Given the description of an element on the screen output the (x, y) to click on. 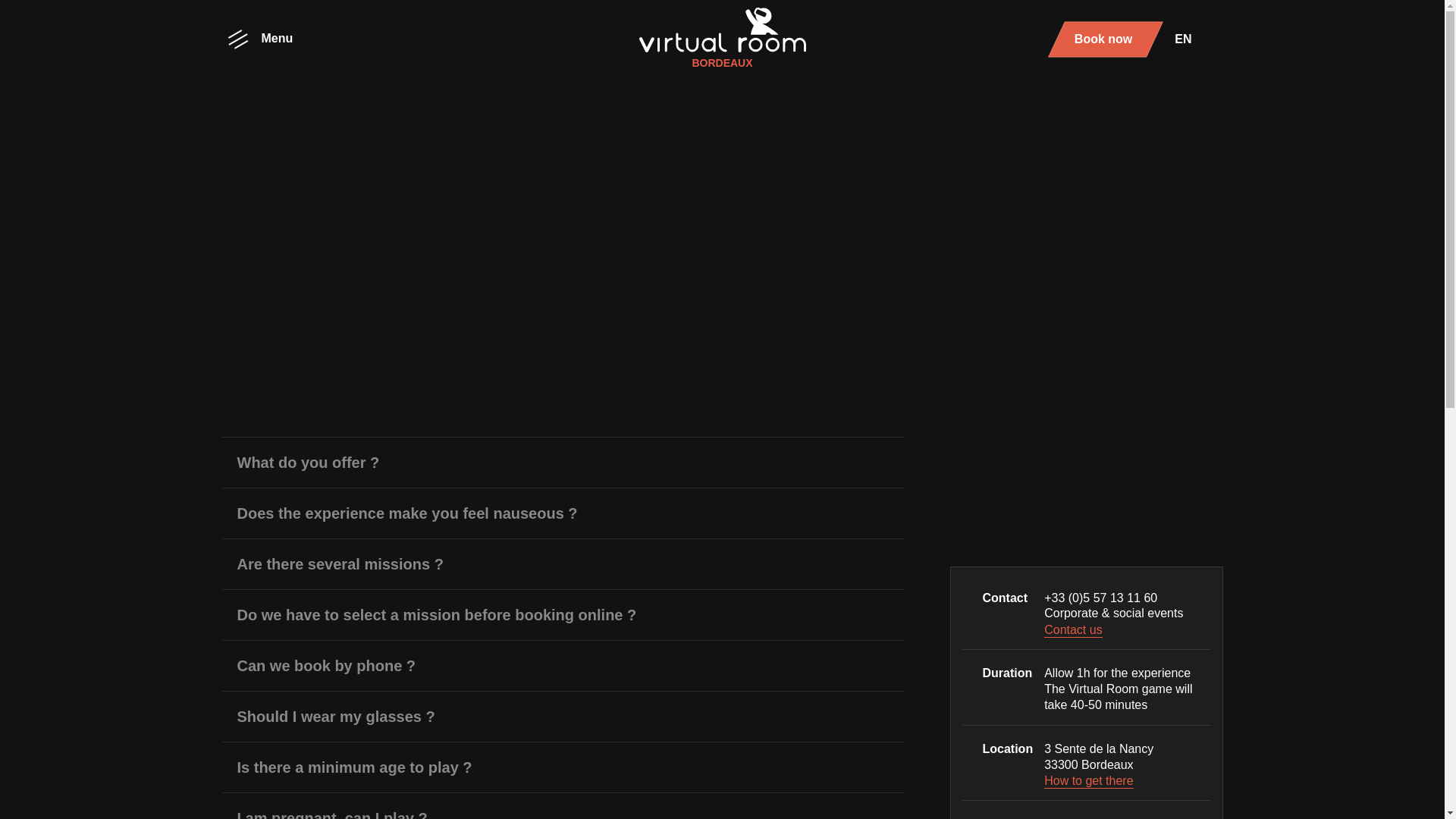
EN (1188, 38)
Menu (256, 39)
Book now (1105, 38)
BORDEAUX (722, 39)
